Given the description of an element on the screen output the (x, y) to click on. 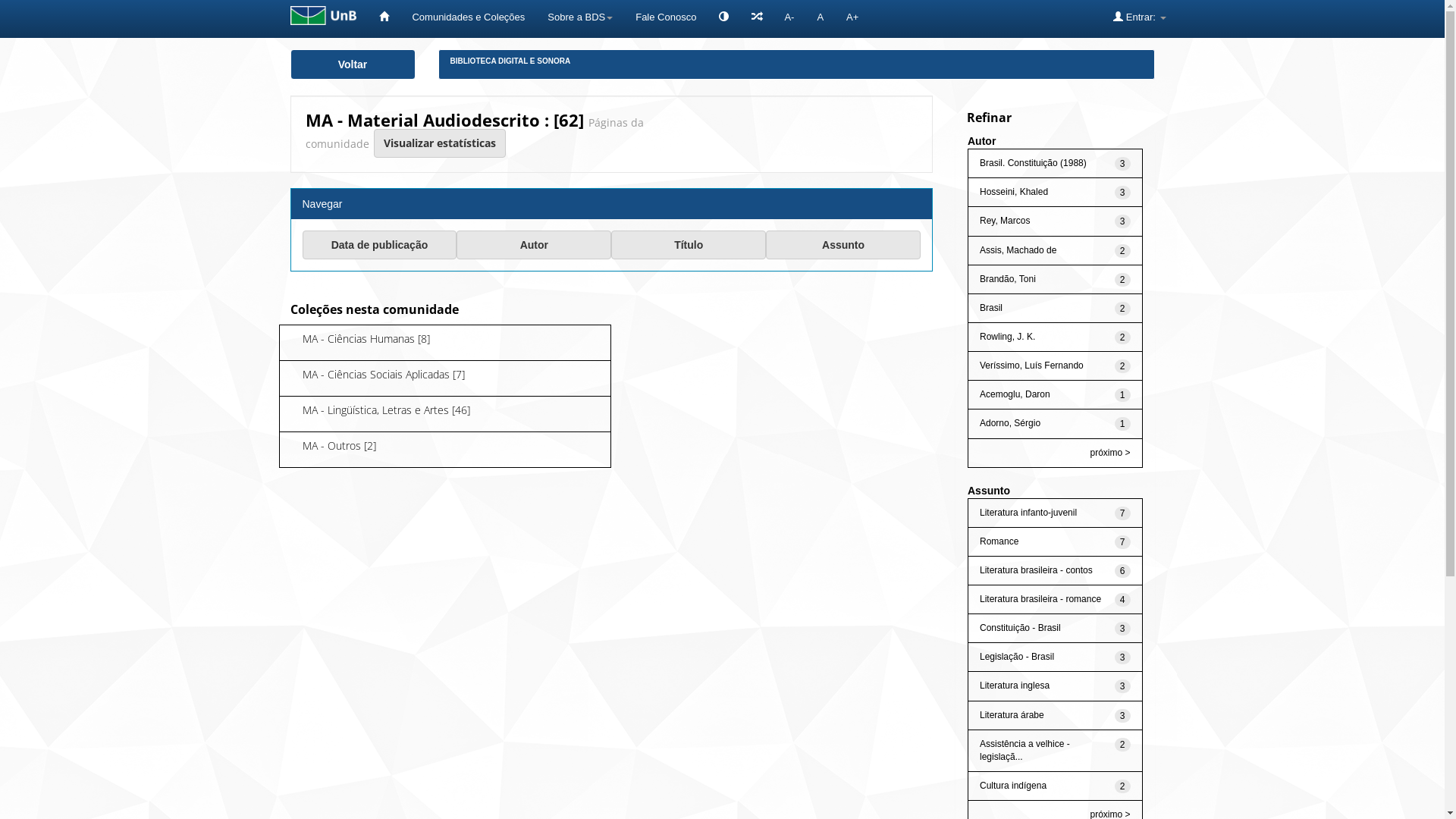
MA - Outros Element type: text (330, 445)
Voltar Element type: text (351, 64)
Romance Element type: text (998, 541)
Literatura inglesa Element type: text (1014, 685)
Acemoglu, Daron Element type: text (1014, 394)
A- Element type: text (788, 17)
Alto contraste Element type: hover (723, 18)
Hosseini, Khaled Element type: text (1013, 191)
Rowling, J. K. Element type: text (1007, 336)
Literatura brasileira - contos Element type: text (1035, 569)
Fale Conosco Element type: text (665, 17)
Assunto Element type: text (842, 244)
Sobre a BDS Element type: text (580, 17)
Atalhos Element type: hover (756, 17)
Autor Element type: text (533, 244)
Assunto Element type: hover (842, 244)
Entrar: Element type: text (1138, 17)
Assis, Machado de Element type: text (1017, 249)
Brasil Element type: text (990, 307)
Literatura infanto-juvenil Element type: text (1027, 512)
A+ Element type: text (851, 17)
Rey, Marcos Element type: text (1004, 220)
Autor Element type: hover (533, 244)
BIBLIOTECA DIGITAL E SONORA Element type: text (510, 60)
A Element type: text (819, 17)
Literatura brasileira - romance Element type: text (1040, 598)
